Given the description of an element on the screen output the (x, y) to click on. 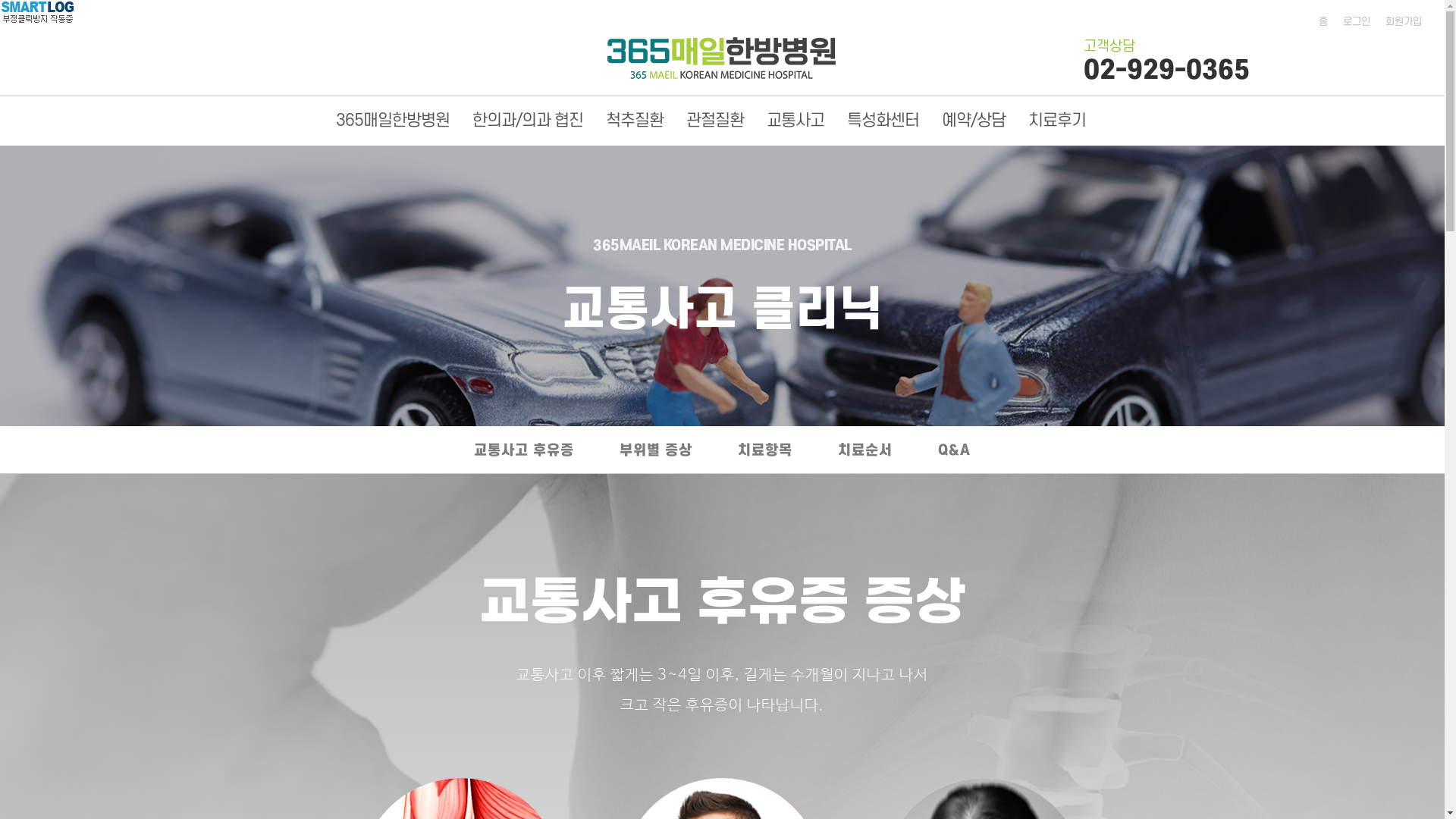
365-logo-final-fin-01 Element type: hover (721, 57)
02-929-0365 Element type: text (1166, 70)
Q&A Element type: text (954, 452)
